Given the description of an element on the screen output the (x, y) to click on. 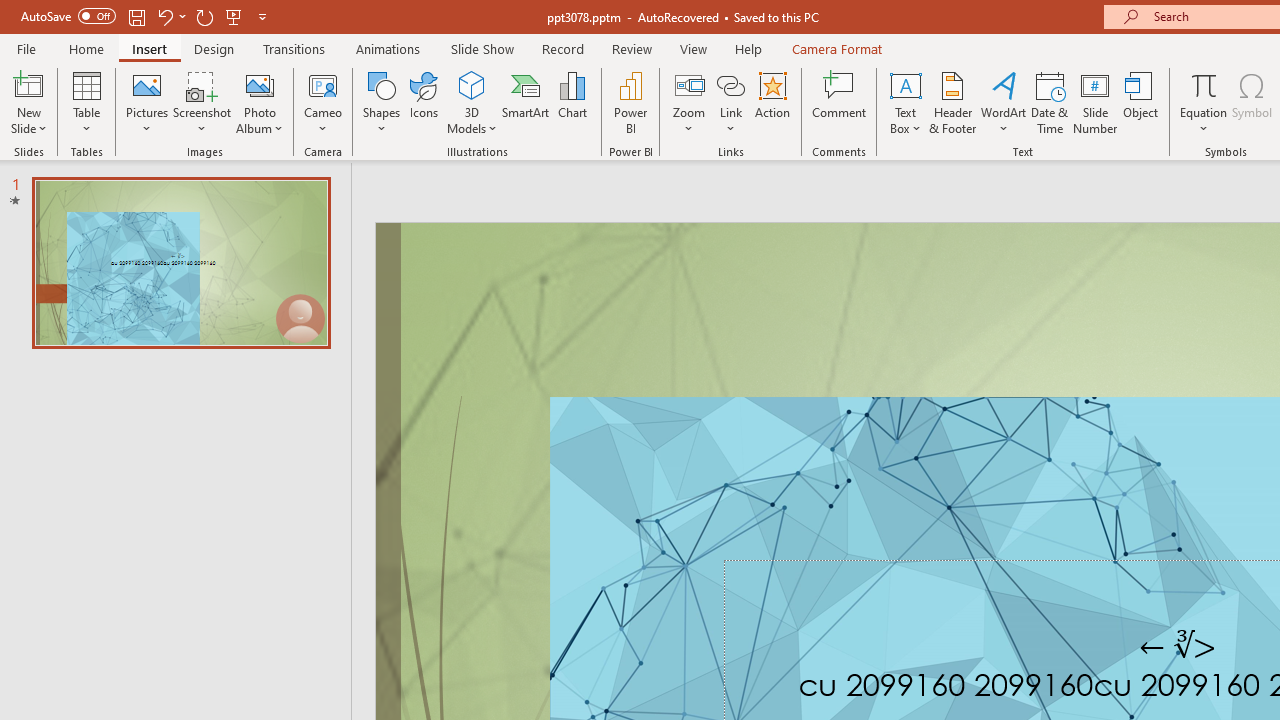
WordArt (1004, 102)
Equation (1203, 84)
SmartArt... (525, 102)
TextBox 7 (1178, 646)
Chart... (572, 102)
Draw Horizontal Text Box (905, 84)
